Given the description of an element on the screen output the (x, y) to click on. 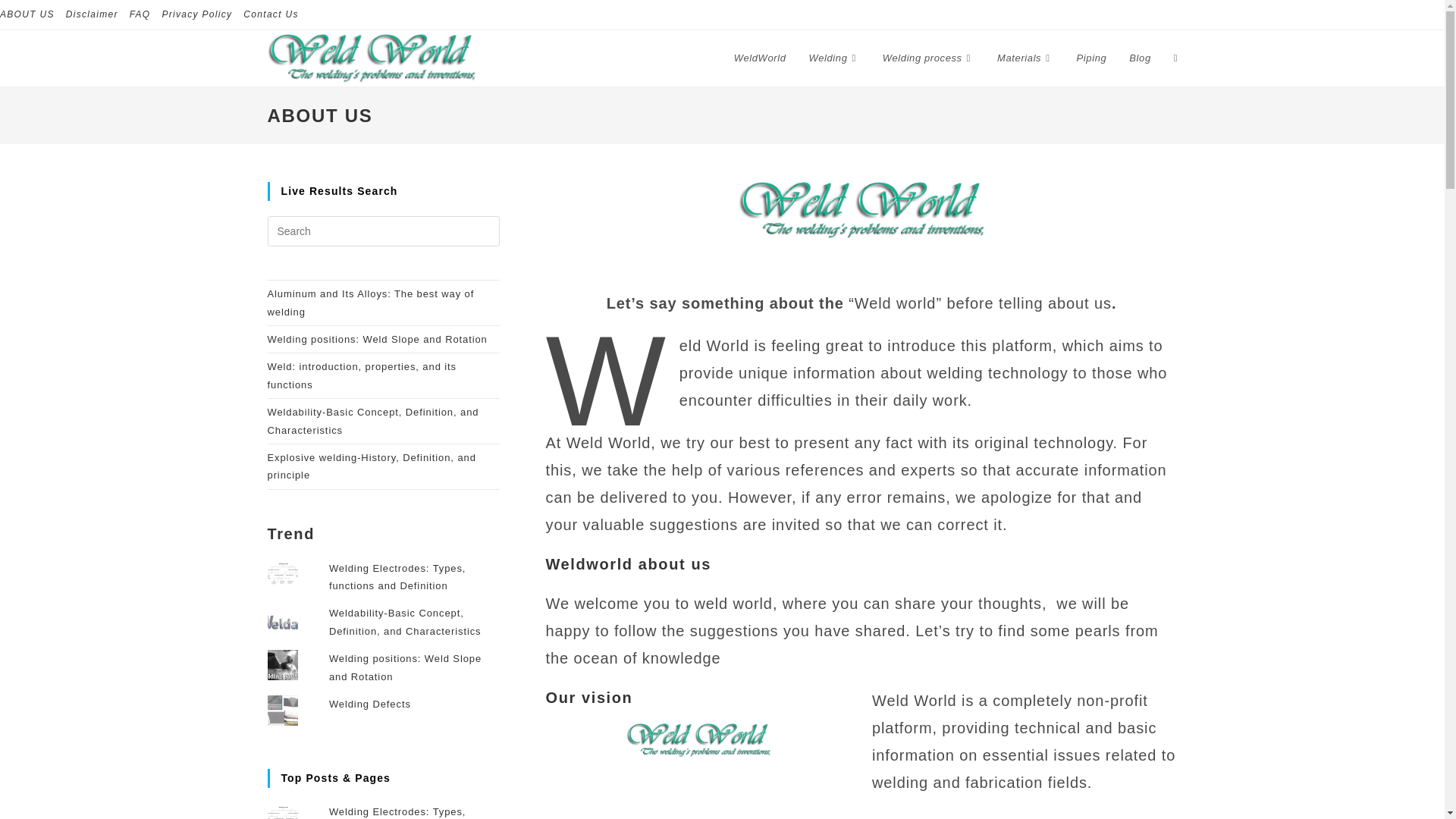
Privacy Policy (196, 14)
Contact Us (270, 14)
weldworld (698, 739)
Welding process (927, 58)
FAQ (140, 14)
WeldWorld (759, 58)
Welding (833, 58)
Disclaimer (91, 14)
ABOUT US 1 (861, 210)
ABOUT US (27, 14)
